Given the description of an element on the screen output the (x, y) to click on. 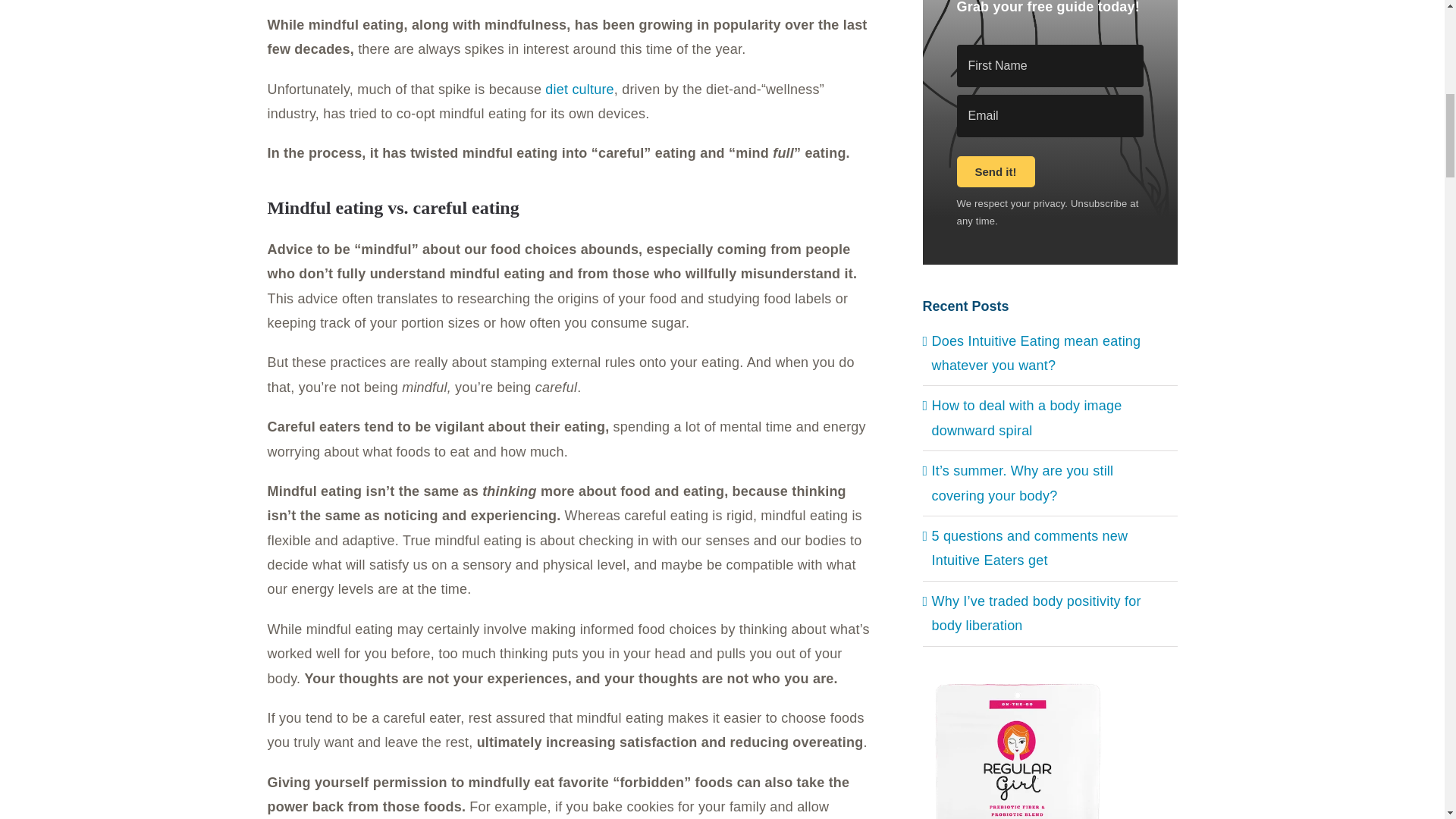
diet culture (578, 89)
